Given the description of an element on the screen output the (x, y) to click on. 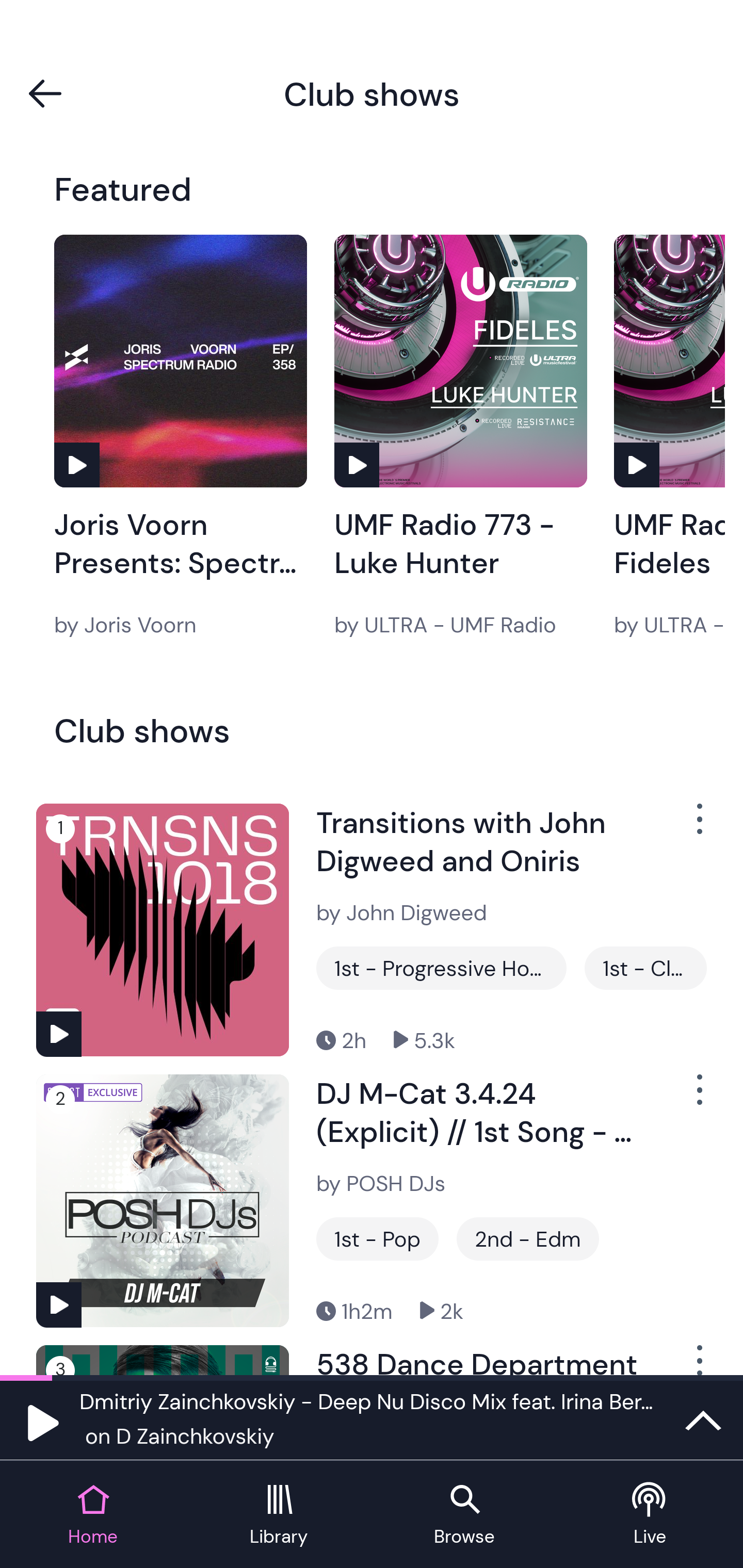
Show Options Menu Button (697, 825)
1st - Progressive House (441, 968)
1st - Club (645, 968)
Show Options Menu Button (697, 1097)
1st - Pop (377, 1238)
2nd - Edm (527, 1238)
Show Options Menu Button (697, 1360)
Home tab Home (92, 1515)
Library tab Library (278, 1515)
Browse tab Browse (464, 1515)
Live tab Live (650, 1515)
